Given the description of an element on the screen output the (x, y) to click on. 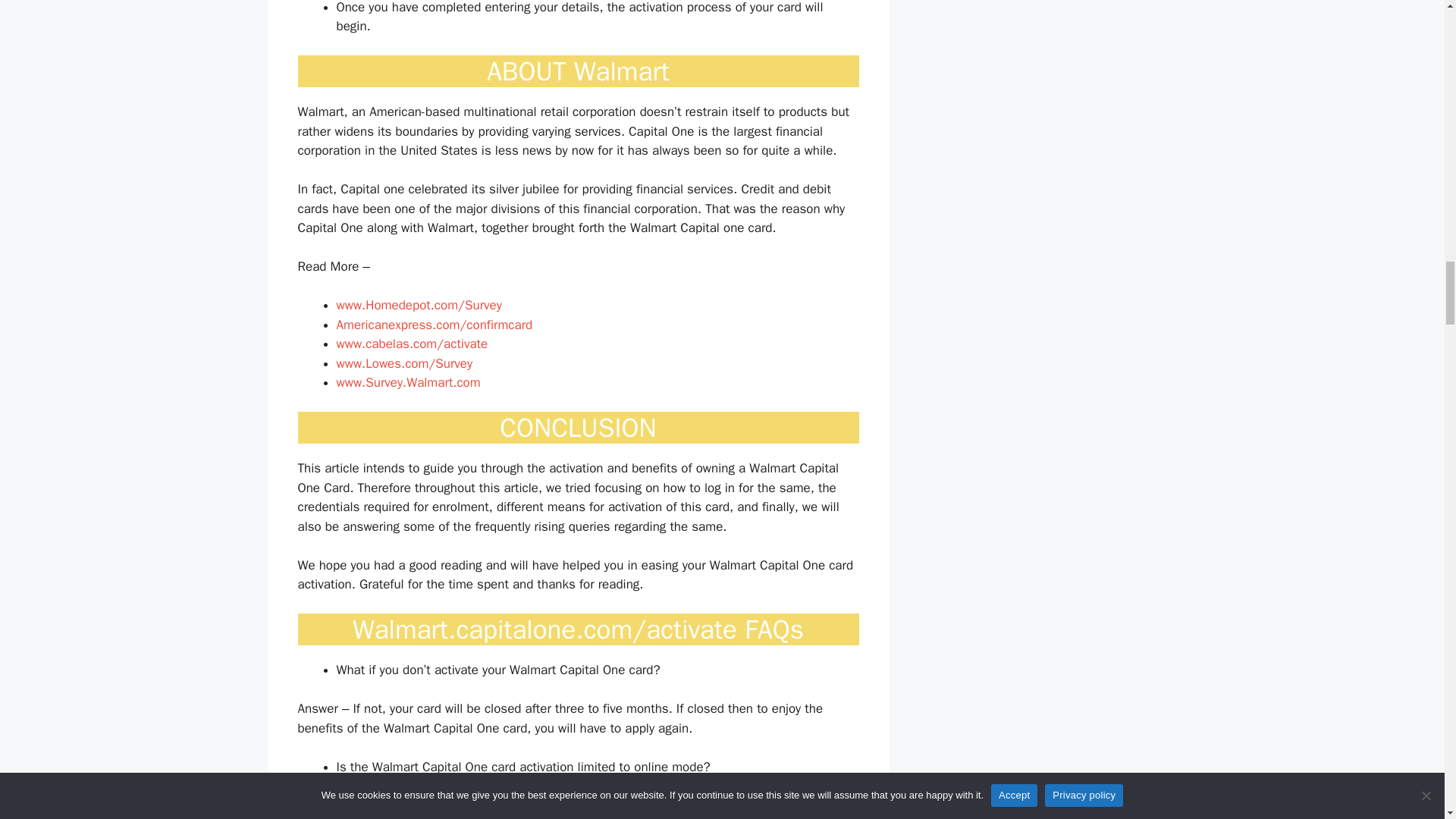
www.Survey.Walmart.com (408, 382)
